Given the description of an element on the screen output the (x, y) to click on. 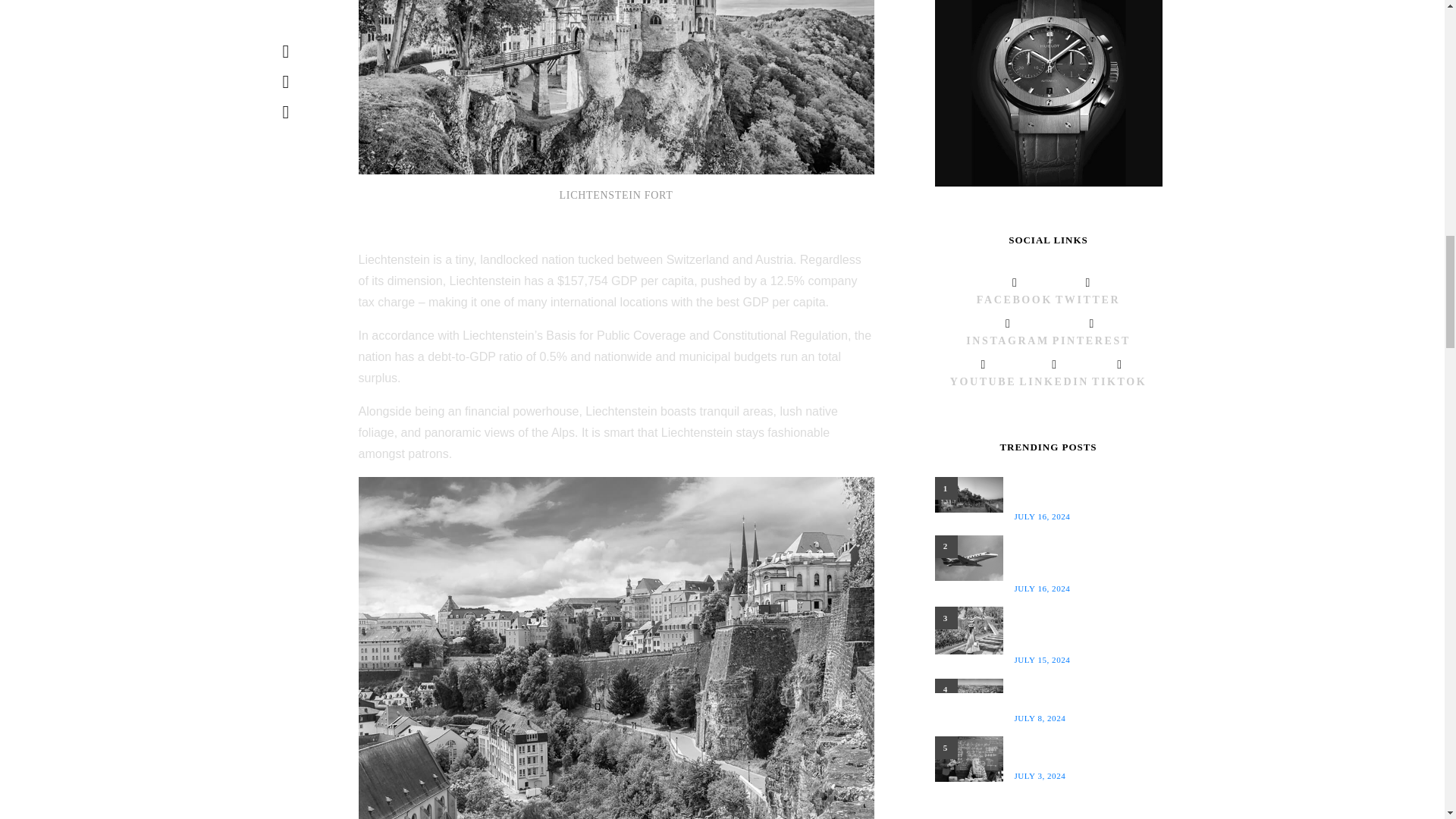
Lichtenstein castle (615, 86)
